Given the description of an element on the screen output the (x, y) to click on. 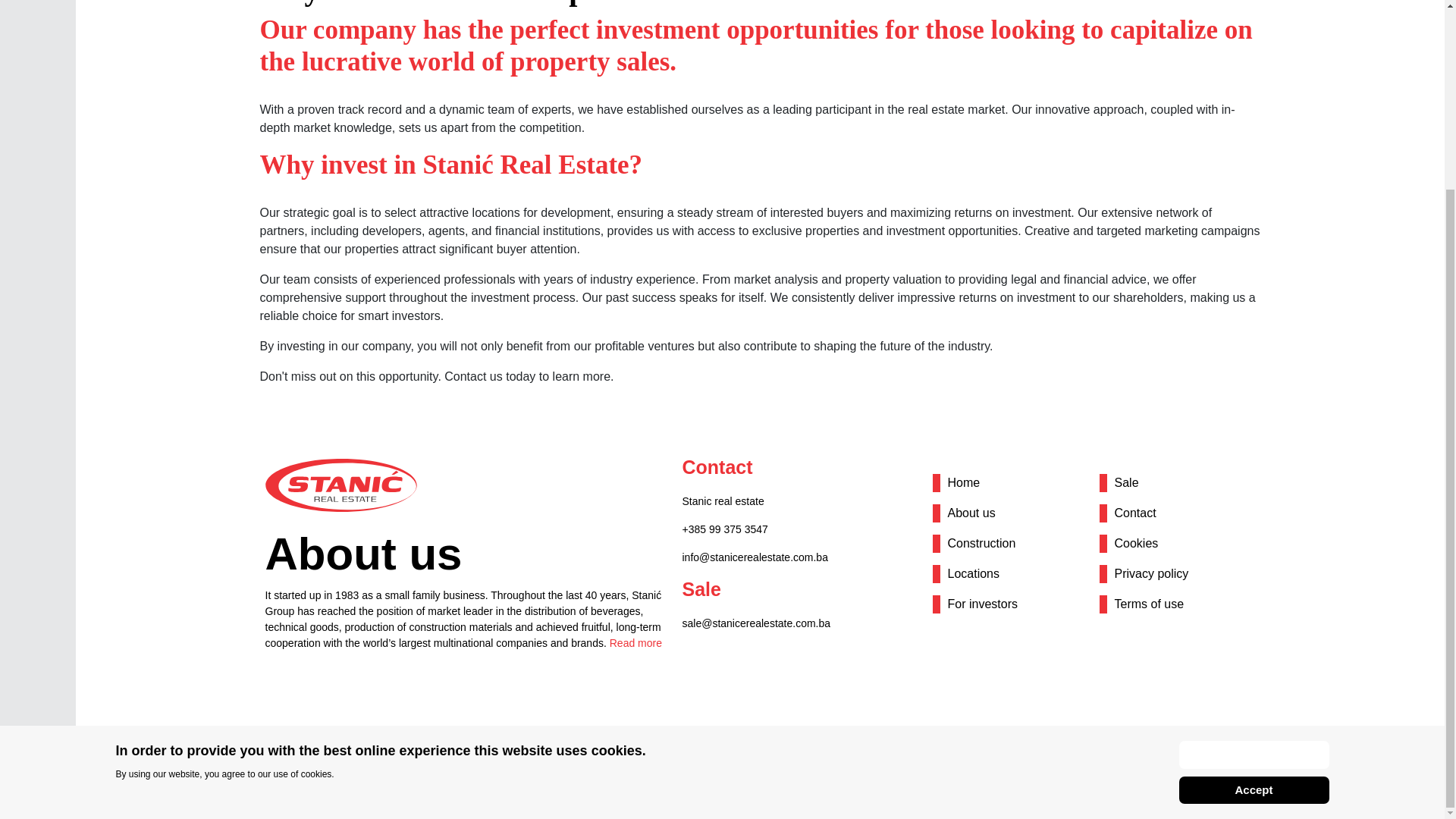
Learn more (1252, 518)
Sale (1126, 481)
About us (971, 512)
Terms of use (1150, 603)
Privacy policy (1152, 573)
Home (963, 481)
Locations (973, 573)
Cookies (1136, 543)
Construction (981, 543)
Contact (1135, 512)
For investors (982, 603)
Accept (1252, 553)
Read more (636, 643)
